Given the description of an element on the screen output the (x, y) to click on. 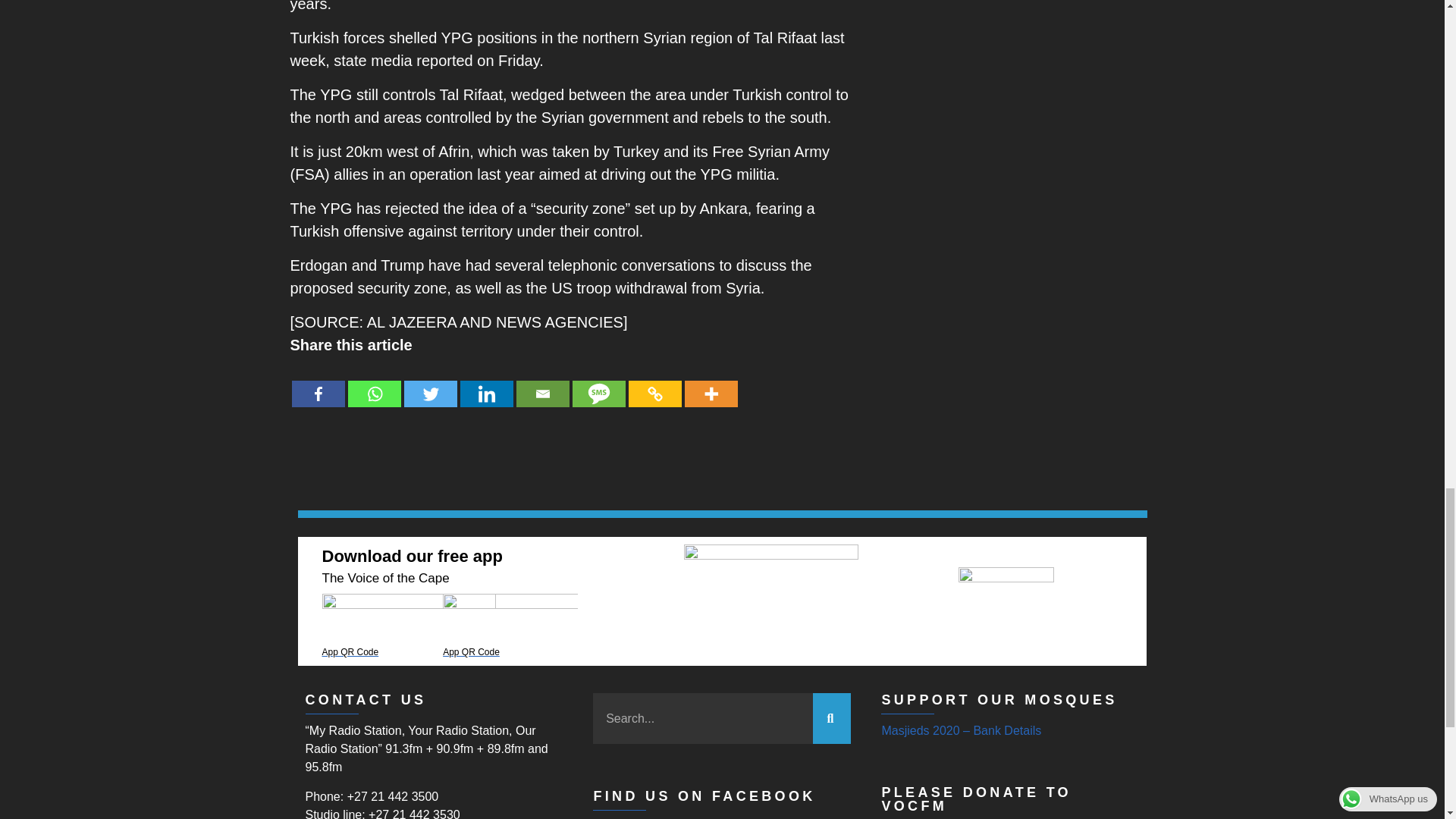
Twitter (430, 382)
Facebook (317, 382)
Email (542, 382)
Linkedin (486, 382)
Whatsapp (373, 382)
